Given the description of an element on the screen output the (x, y) to click on. 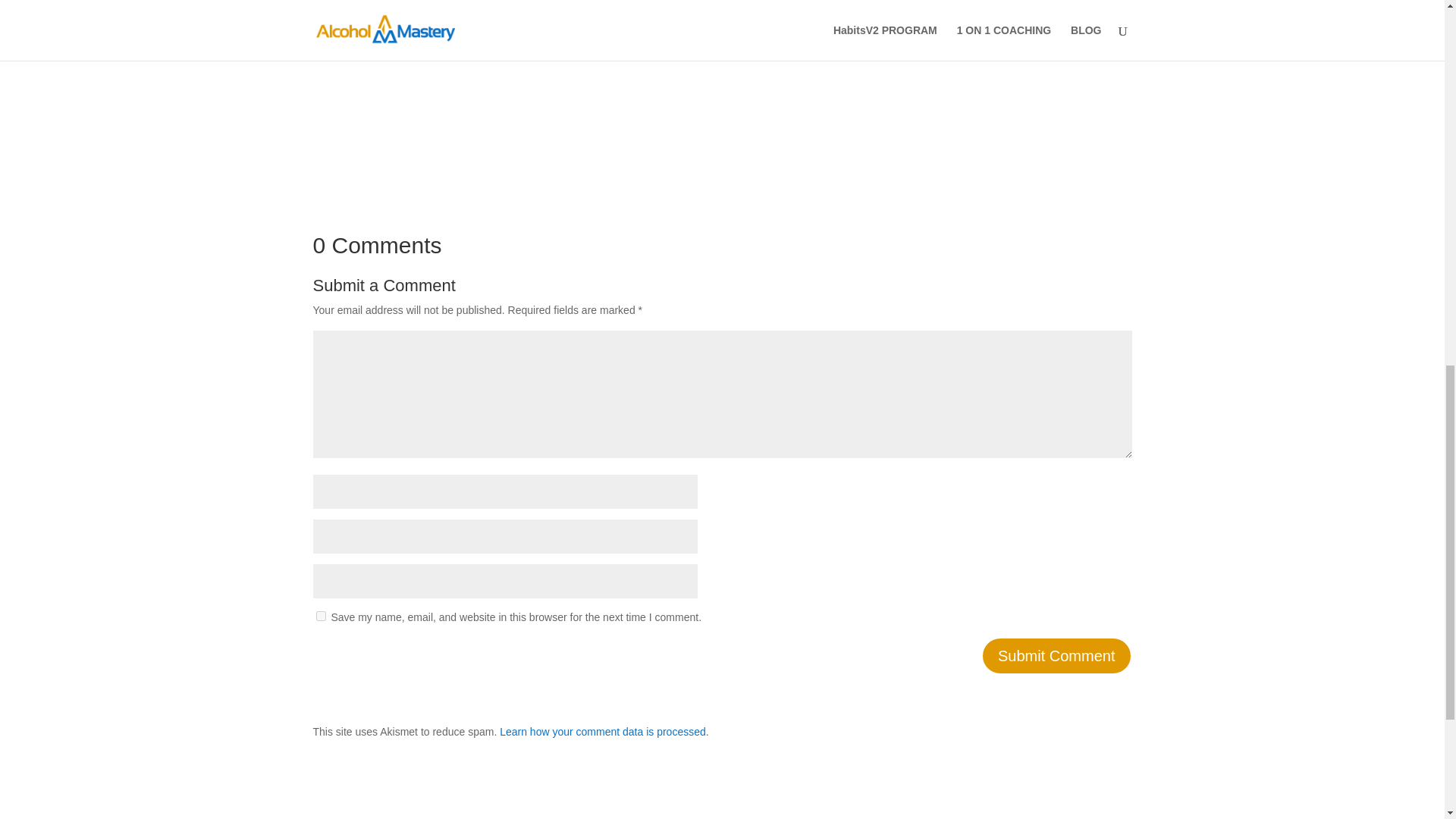
yes (319, 615)
Submit Comment (1056, 655)
Learn how your comment data is processed (602, 731)
